Given the description of an element on the screen output the (x, y) to click on. 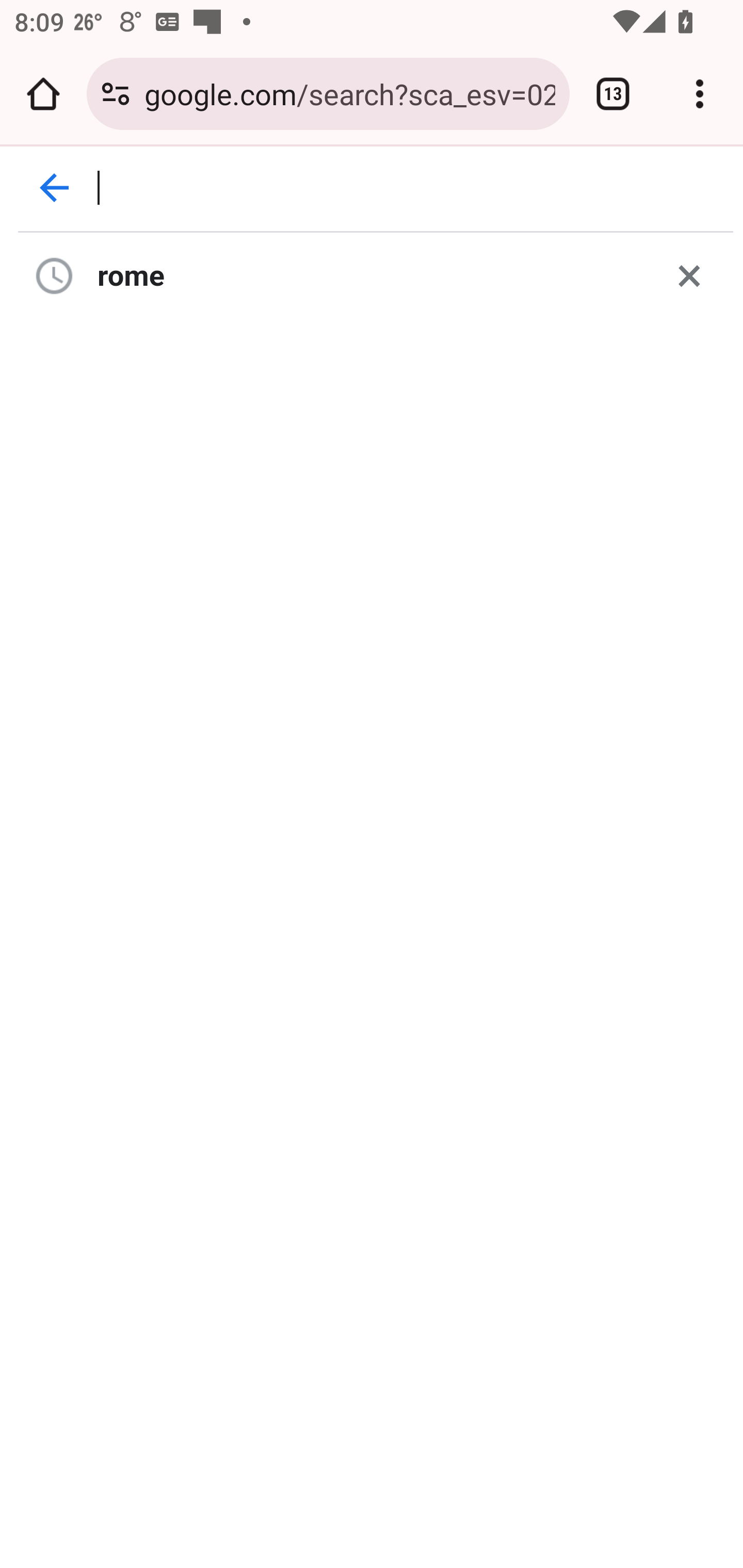
Open the home page (43, 93)
Connection is secure (115, 93)
Switch or close tabs (612, 93)
Customize and control Google Chrome (699, 93)
Back (54, 188)
rome Delete (375, 274)
Delete (689, 274)
